Given the description of an element on the screen output the (x, y) to click on. 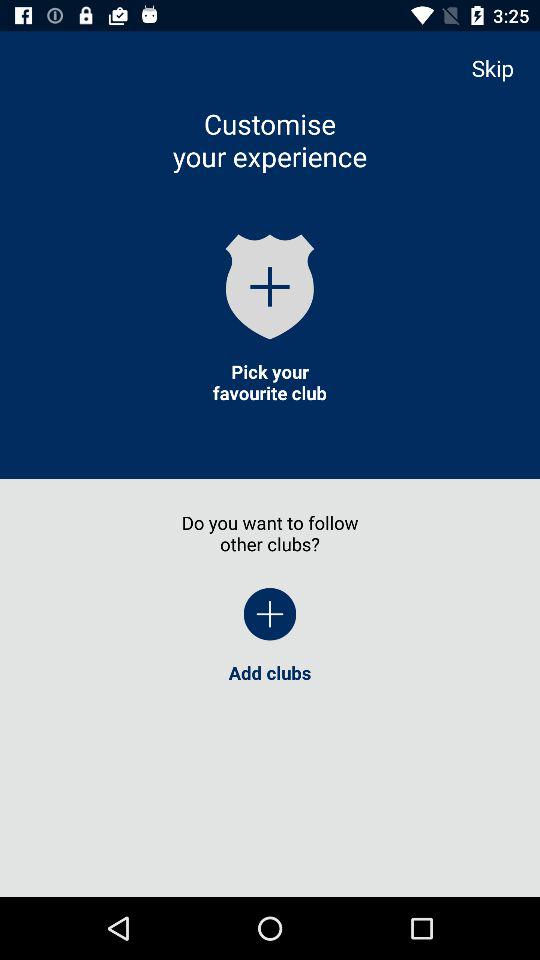
turn on the pick your favourite item (269, 382)
